Given the description of an element on the screen output the (x, y) to click on. 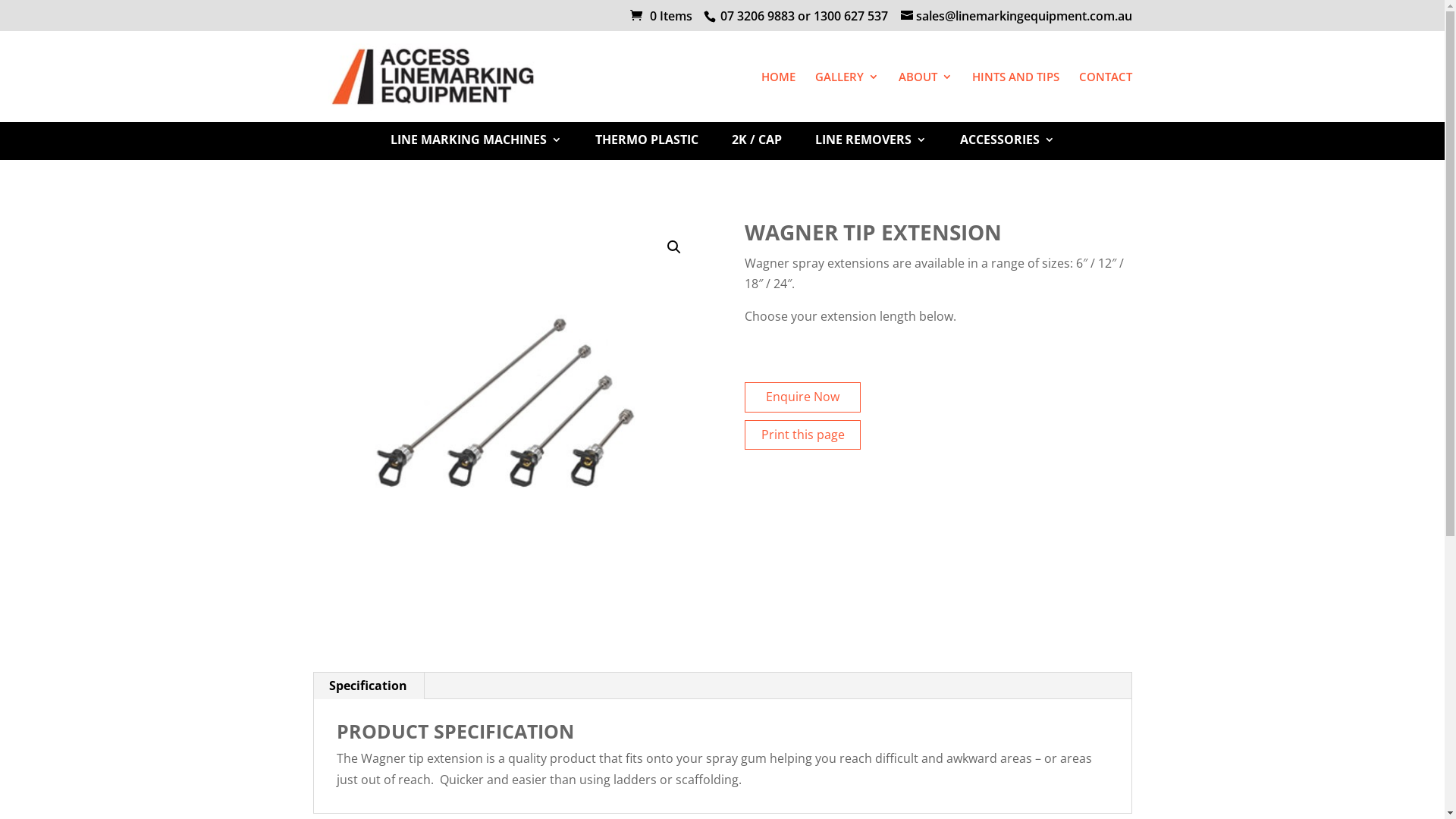
THERMO PLASTIC Element type: text (645, 147)
Print this page Element type: text (802, 434)
0 Items Element type: text (660, 15)
2K / CAP Element type: text (756, 147)
Wagner Tip Extension Element type: hover (505, 414)
ACCESSORIES Element type: text (1007, 147)
07 3206 9883 Element type: text (755, 15)
1300 627 537 Element type: text (849, 15)
Enquire Now Element type: text (802, 396)
CONTACT Element type: text (1104, 96)
HOME Element type: text (778, 96)
ABOUT Element type: text (924, 96)
LINE MARKING MACHINES Element type: text (475, 147)
Specification Element type: text (367, 685)
sales@linemarkingequipment.com.au Element type: text (1016, 15)
LINE REMOVERS Element type: text (869, 147)
GALLERY Element type: text (846, 96)
HINTS AND TIPS Element type: text (1015, 96)
